Given the description of an element on the screen output the (x, y) to click on. 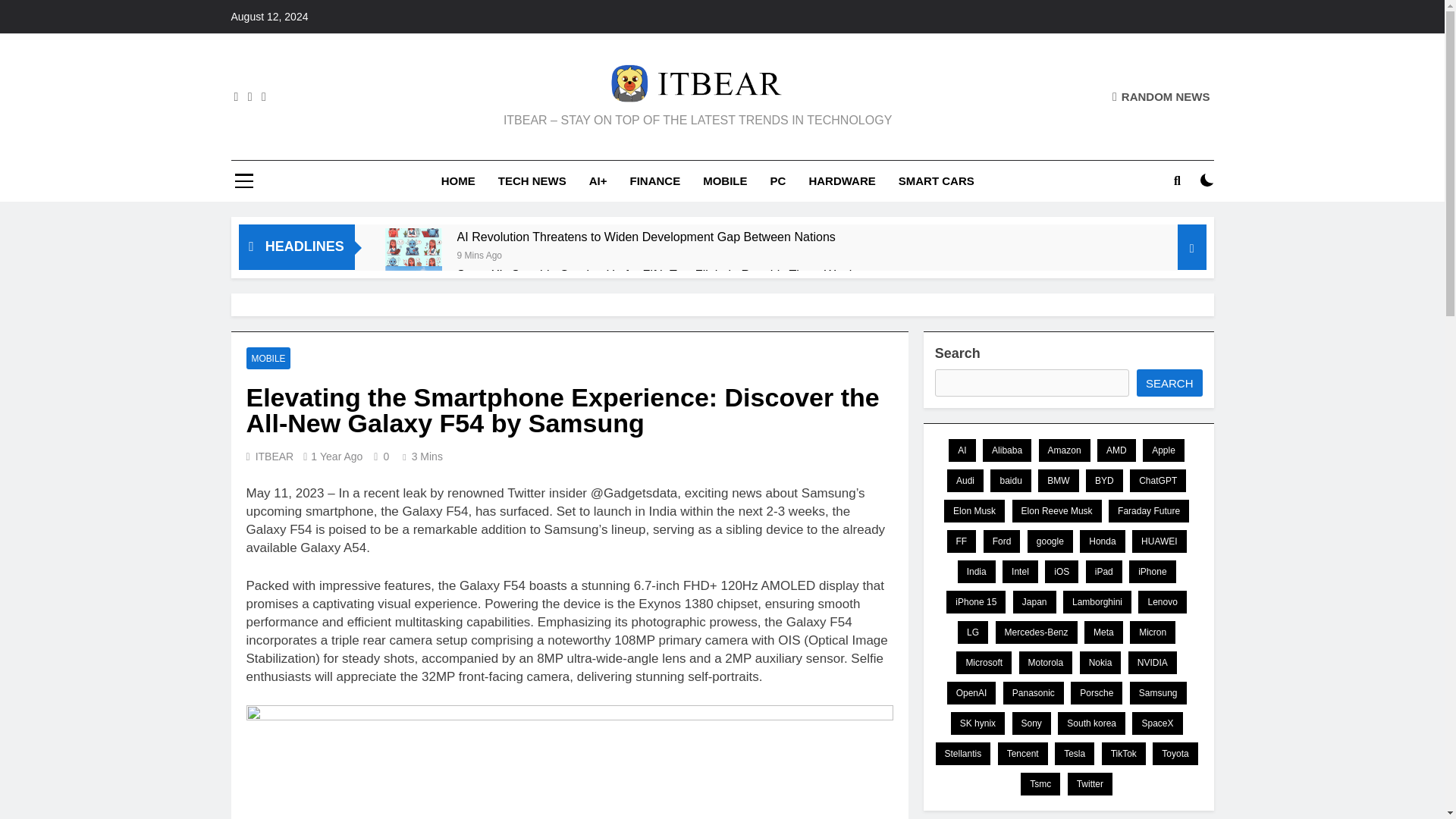
on (1206, 180)
RANDOM NEWS (1160, 96)
